Given the description of an element on the screen output the (x, y) to click on. 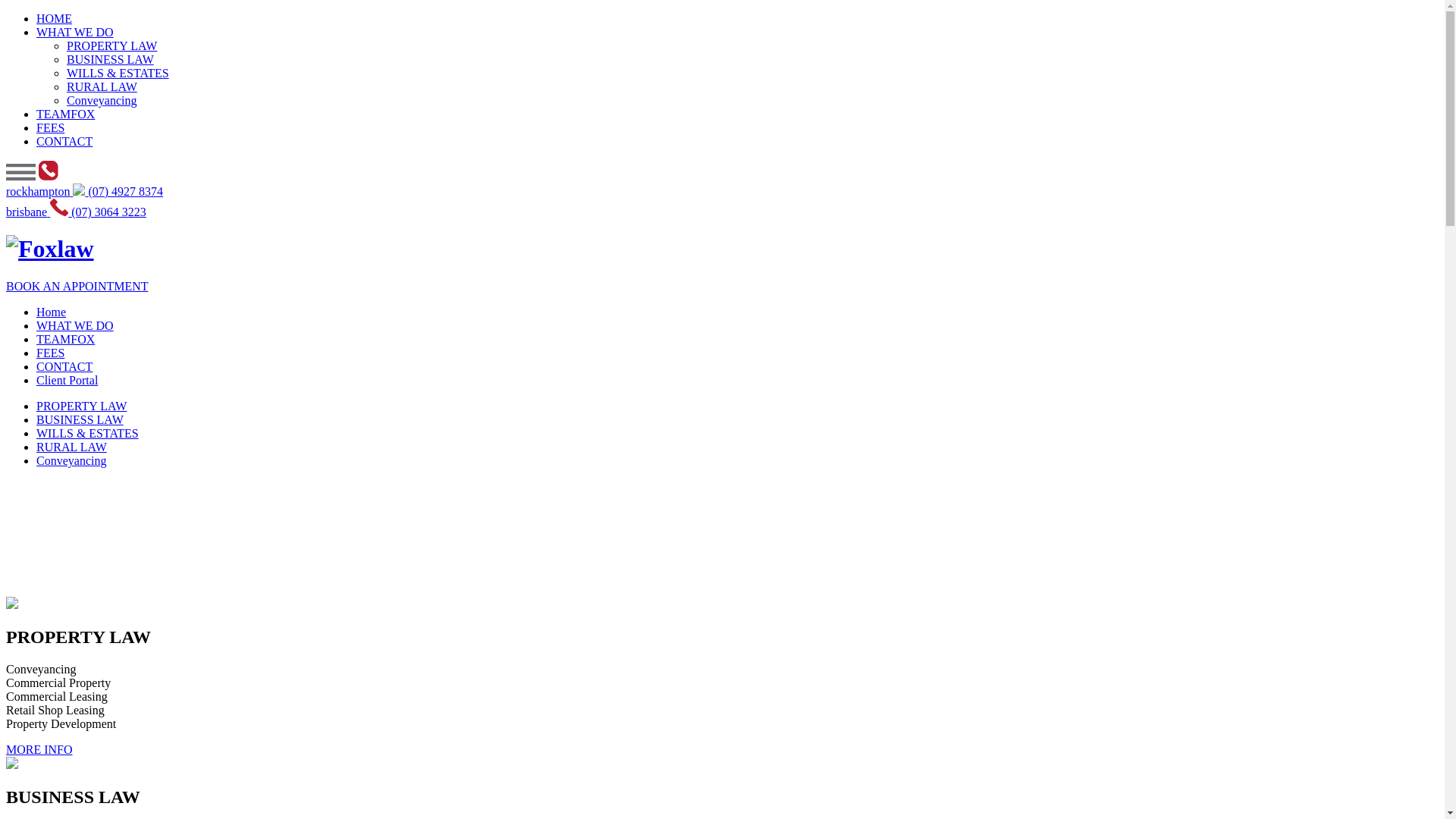
rockhampton (07) 4927 8374 Element type: text (84, 191)
Client Portal Element type: text (66, 379)
brisbane (07) 3064 3223 Element type: text (76, 211)
WILLS & ESTATES Element type: text (117, 72)
FEES Element type: text (50, 352)
HOME Element type: text (54, 18)
CONTACT Element type: text (64, 366)
MORE INFO Element type: text (39, 749)
RURAL LAW Element type: text (101, 86)
PROPERTY LAW Element type: text (81, 405)
BUSINESS LAW Element type: text (109, 59)
WILLS & ESTATES Element type: text (87, 432)
TEAMFOX Element type: text (65, 113)
RURAL LAW Element type: text (71, 446)
WHAT WE DO Element type: text (74, 31)
WHAT WE DO Element type: text (74, 325)
PROPERTY LAW Element type: text (111, 45)
CONTACT Element type: text (64, 140)
FEES Element type: text (50, 127)
BOOK AN APPOINTMENT Element type: text (77, 285)
TEAMFOX Element type: text (65, 338)
Conveyancing Element type: text (101, 100)
Conveyancing Element type: text (71, 460)
Home Element type: text (50, 311)
BUSINESS LAW Element type: text (79, 419)
